Given the description of an element on the screen output the (x, y) to click on. 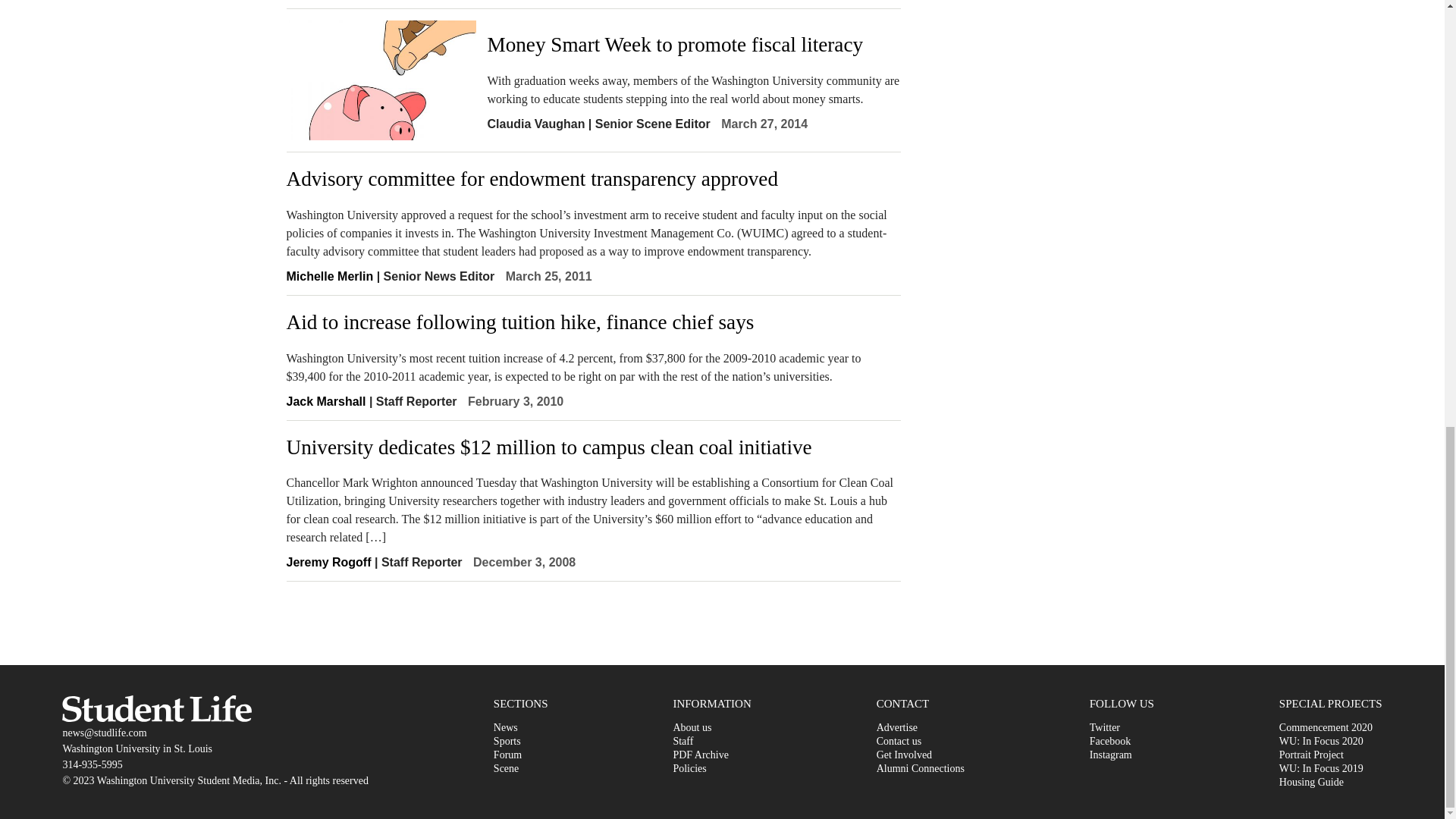
Advisory committee for endowment transparency approved (593, 178)
Articles by Jeremy Rogoff (328, 562)
Articles by Jack Marshall (326, 400)
Michelle Merlin (330, 276)
Money Smart Week to promote fiscal literacy (692, 44)
Articles by Michelle Merlin (330, 276)
